Given the description of an element on the screen output the (x, y) to click on. 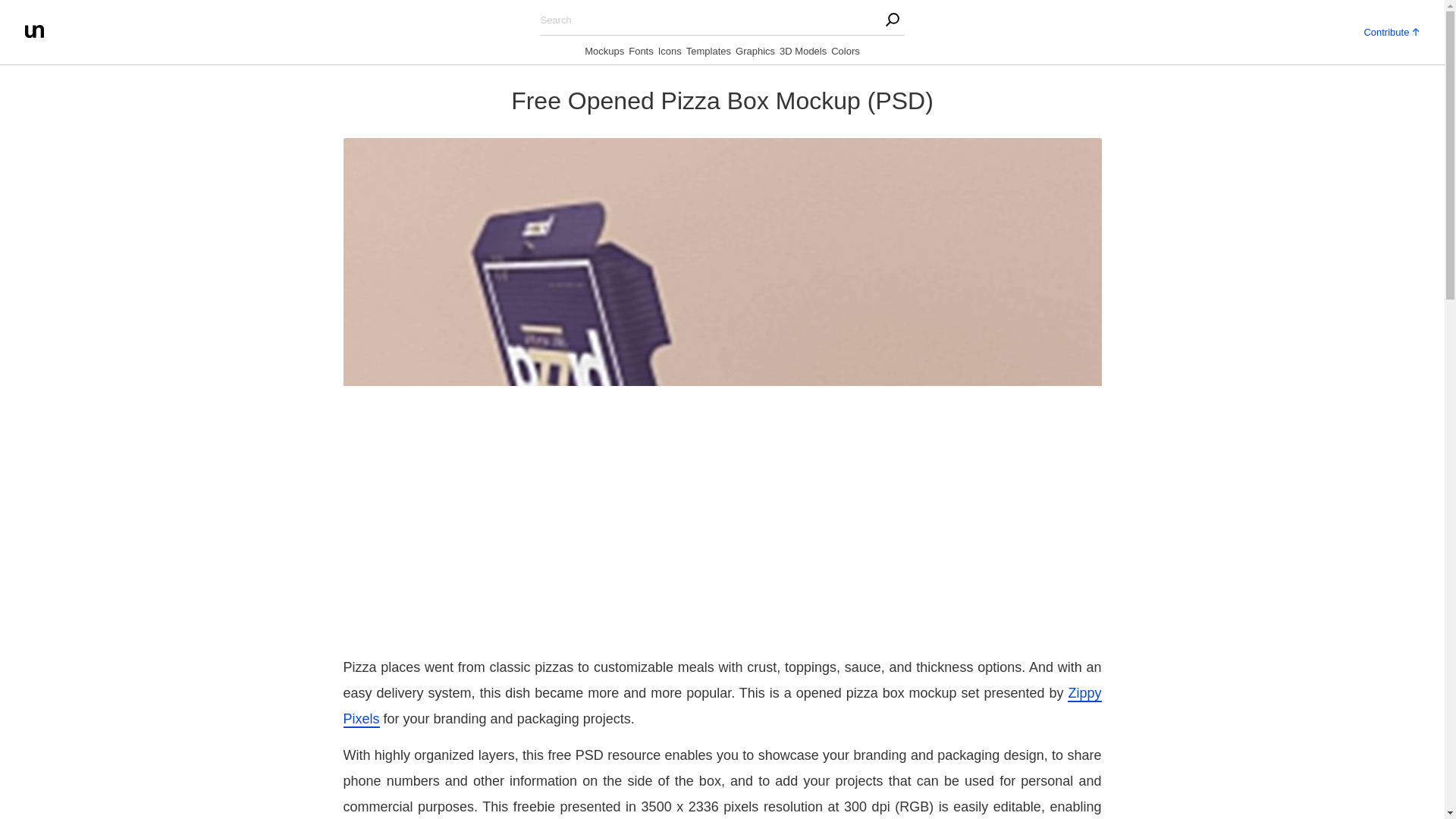
Search (303, 15)
Fonts (640, 53)
Zippy Pixels (721, 706)
Templates (707, 53)
Contribute (1390, 30)
Colors (845, 53)
Mockups (604, 53)
3D Models (802, 53)
Icons (669, 53)
Graphics (754, 53)
